Given the description of an element on the screen output the (x, y) to click on. 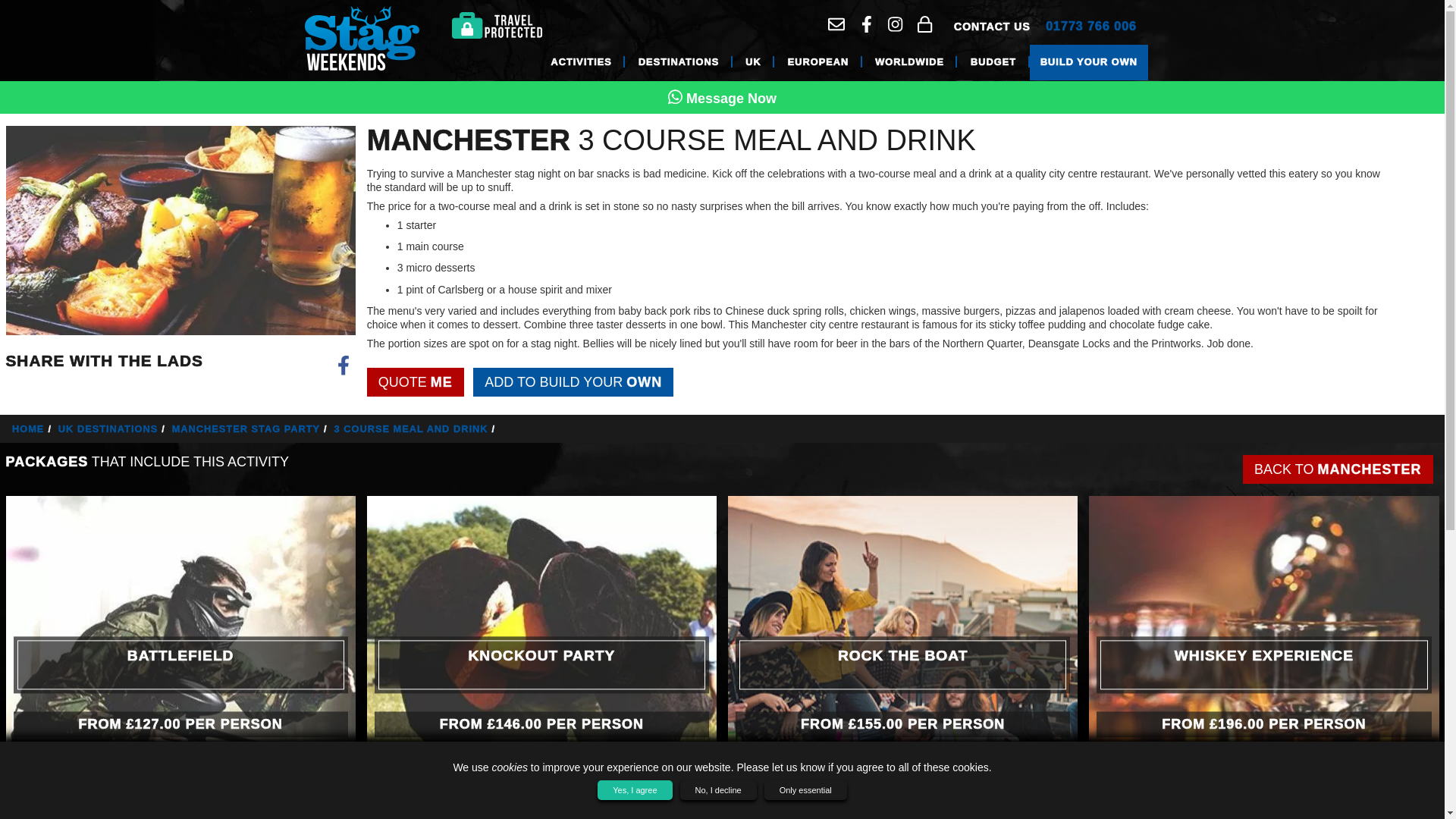
MANCHESTER STAG PARTY (251, 428)
BUILD YOUR OWN (1088, 62)
ACTIVITIES (580, 62)
3 COURSE MEAL AND DRINK (416, 428)
HOME (33, 428)
01773 766 006 (1091, 26)
UK DESTINATIONS (113, 428)
DESTINATIONS (678, 62)
CONTACT US (991, 26)
BUDGET (992, 62)
BACK TO MANCHESTER (1337, 469)
